Given the description of an element on the screen output the (x, y) to click on. 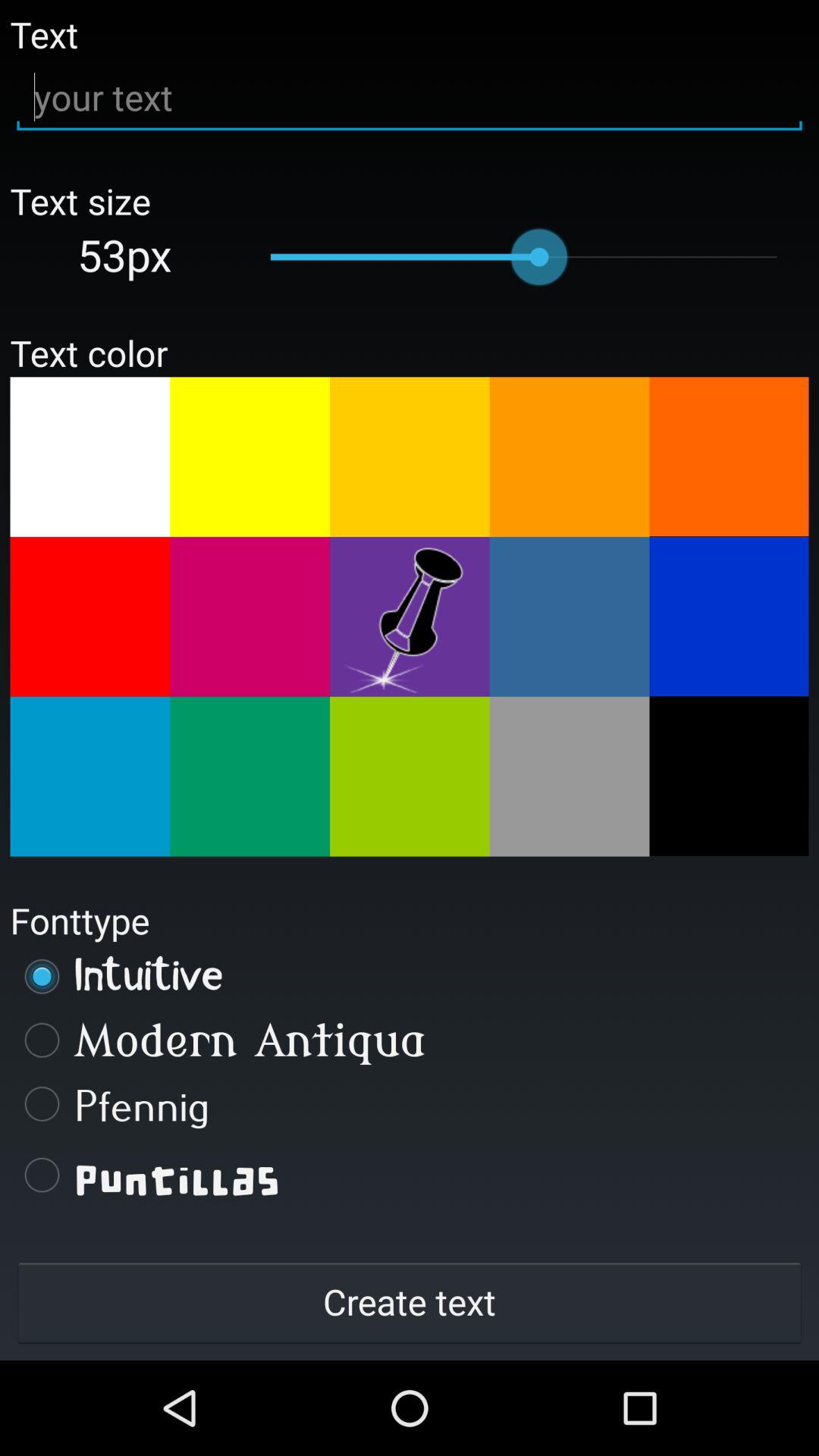
choose a text color (249, 776)
